Given the description of an element on the screen output the (x, y) to click on. 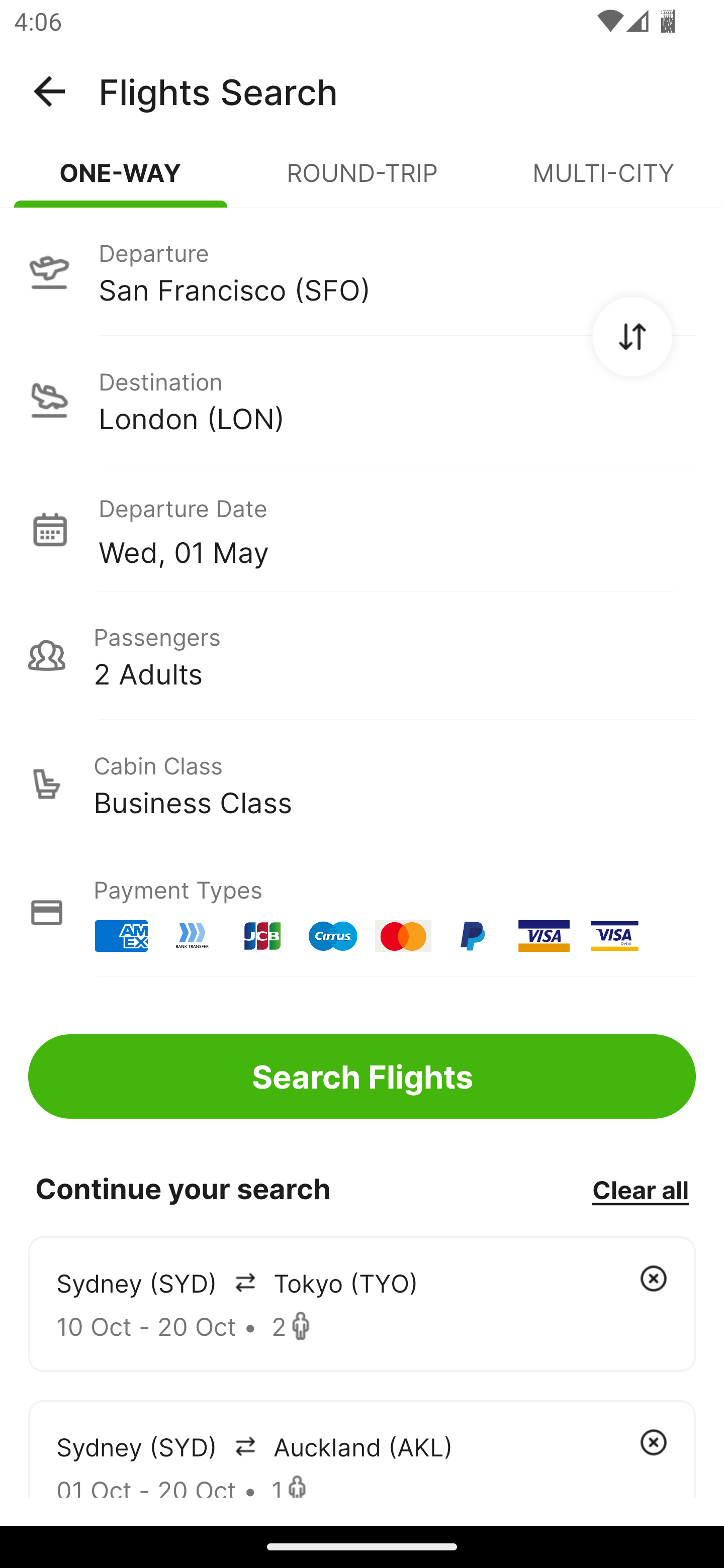
ONE-WAY (120, 180)
ROUND-TRIP (361, 180)
MULTI-CITY (603, 180)
Departure San Francisco (SFO) (362, 270)
Destination London (LON) (362, 400)
Departure Date Wed, 01 May (396, 528)
Passengers 2 Adults (362, 655)
Cabin Class Business Class (362, 783)
Payment Types (362, 912)
Search Flights (361, 1075)
Clear all (640, 1189)
